Given the description of an element on the screen output the (x, y) to click on. 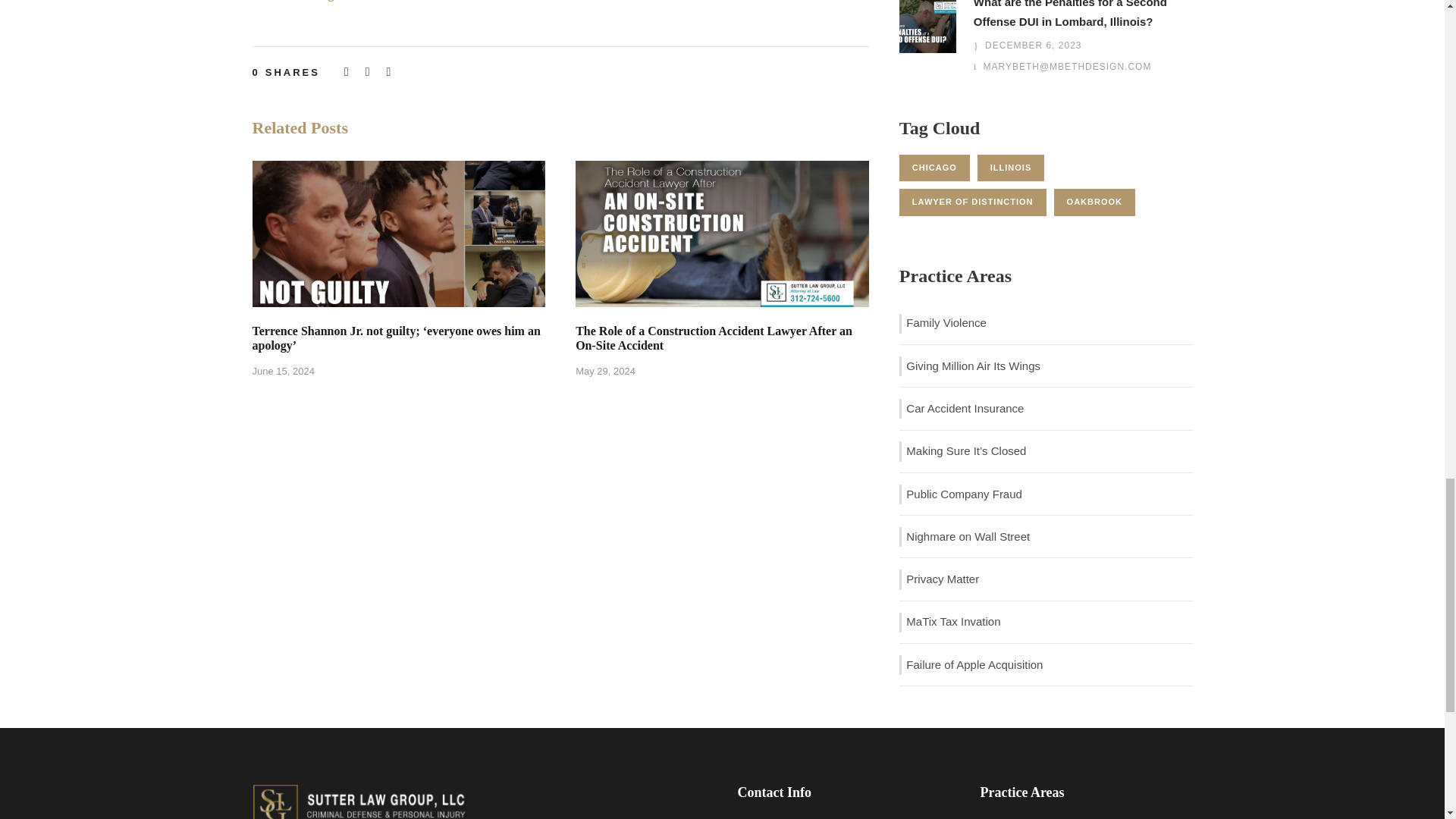
terrance-shannon-lawyer-against-rape-charges2 (397, 233)
